Given the description of an element on the screen output the (x, y) to click on. 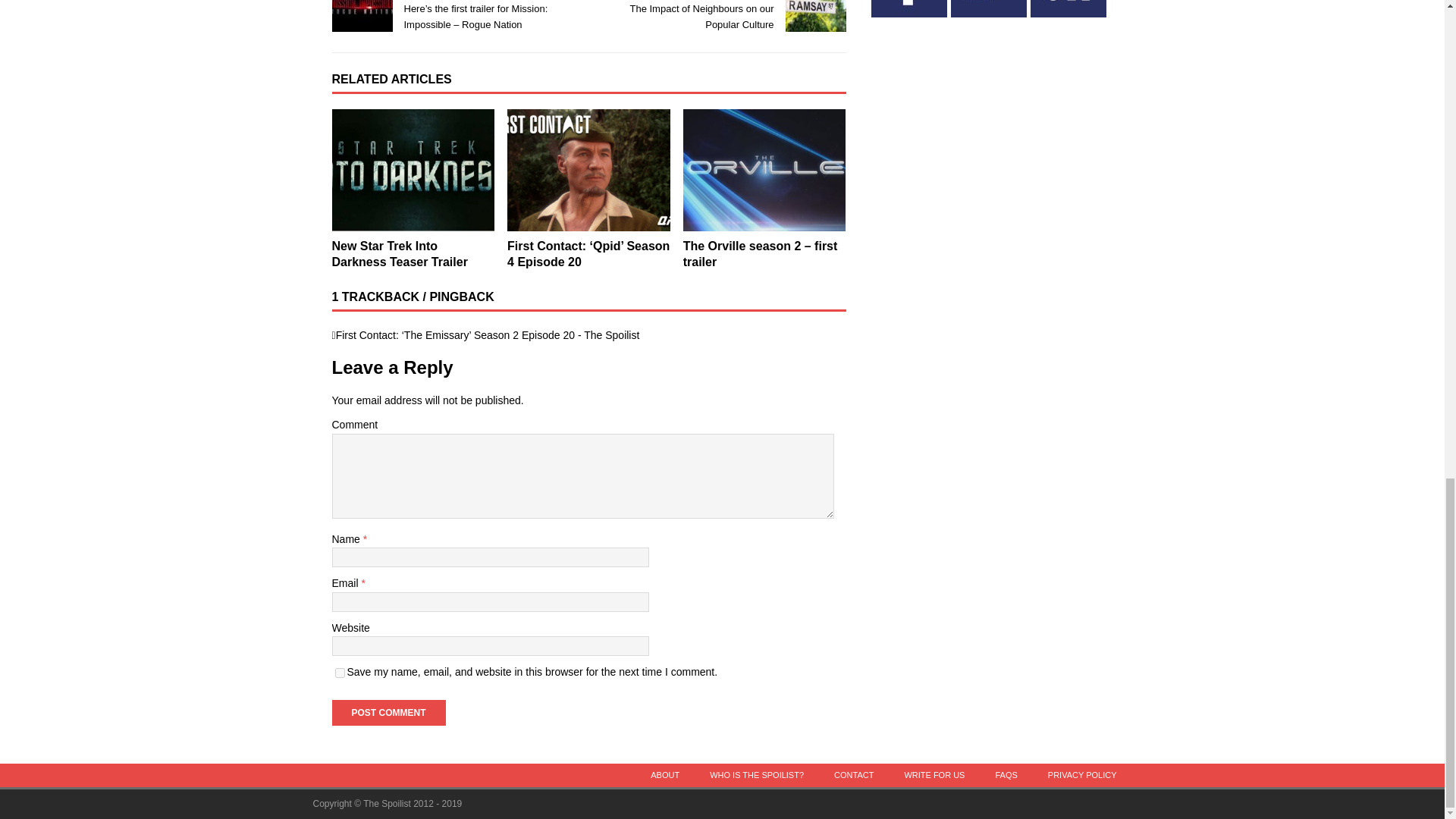
yes (339, 673)
Post Comment (388, 712)
